Given the description of an element on the screen output the (x, y) to click on. 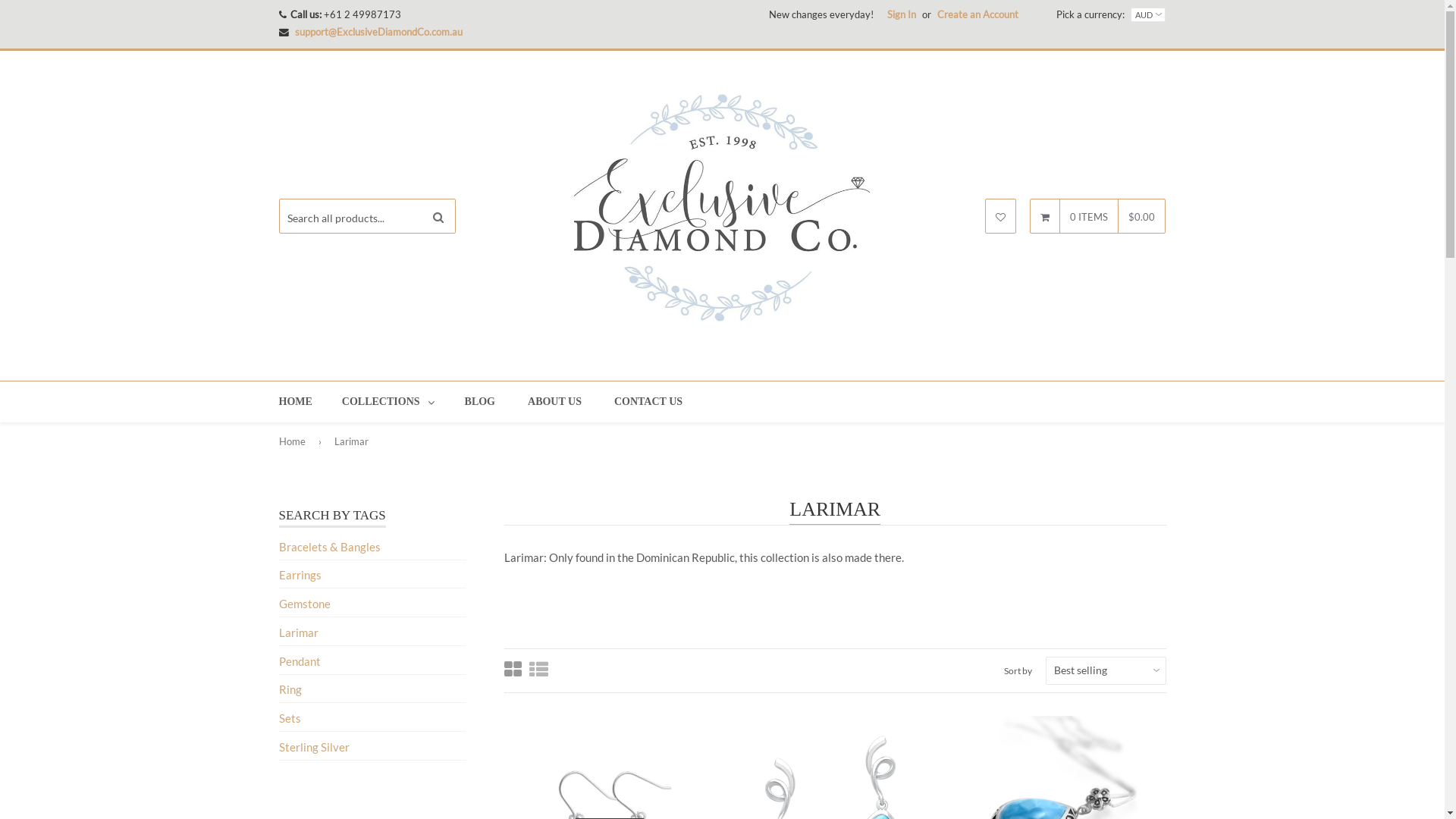
HOME Element type: text (295, 401)
Search Element type: text (437, 216)
ABOUT US Element type: text (554, 401)
Create an Account Element type: text (977, 14)
Bracelets & Bangles Element type: text (329, 546)
Sets Element type: text (290, 717)
Grid view Element type: hover (512, 670)
COLLECTIONS Element type: text (388, 401)
Gemstone Element type: text (304, 603)
CONTACT US Element type: text (648, 401)
Ring Element type: text (290, 689)
Larimar Element type: text (298, 632)
0 ITEMS $0.00 Element type: text (1097, 216)
Earrings Element type: text (300, 574)
support@ExclusiveDiamondCo.com.au Element type: text (377, 31)
Sterling Silver Element type: text (314, 746)
Home Element type: text (294, 441)
Pendant Element type: text (299, 661)
Sign In Element type: text (901, 14)
List view Element type: hover (538, 670)
BLOG Element type: text (479, 401)
